Given the description of an element on the screen output the (x, y) to click on. 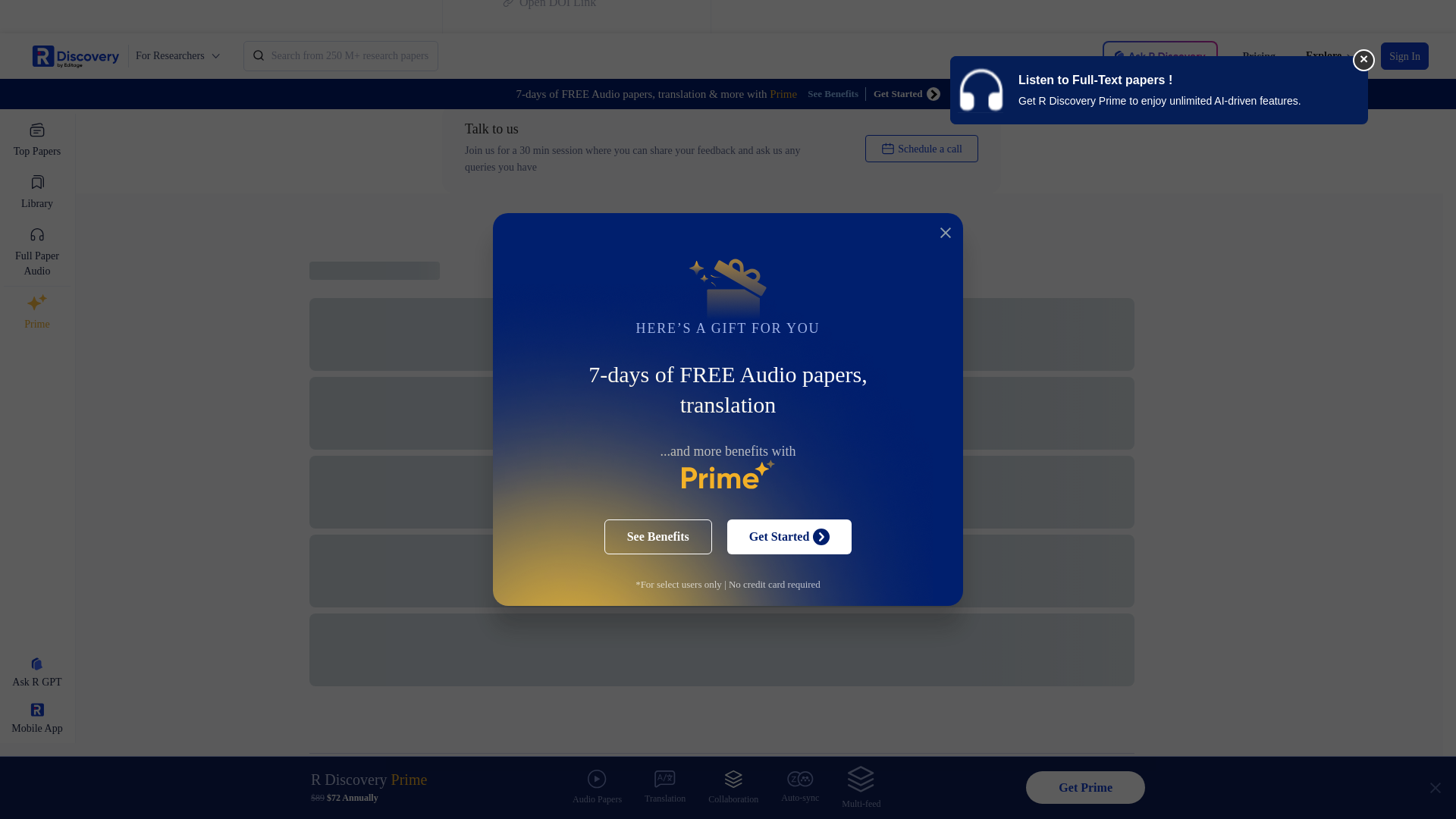
Open DOI Link (576, 5)
